Given the description of an element on the screen output the (x, y) to click on. 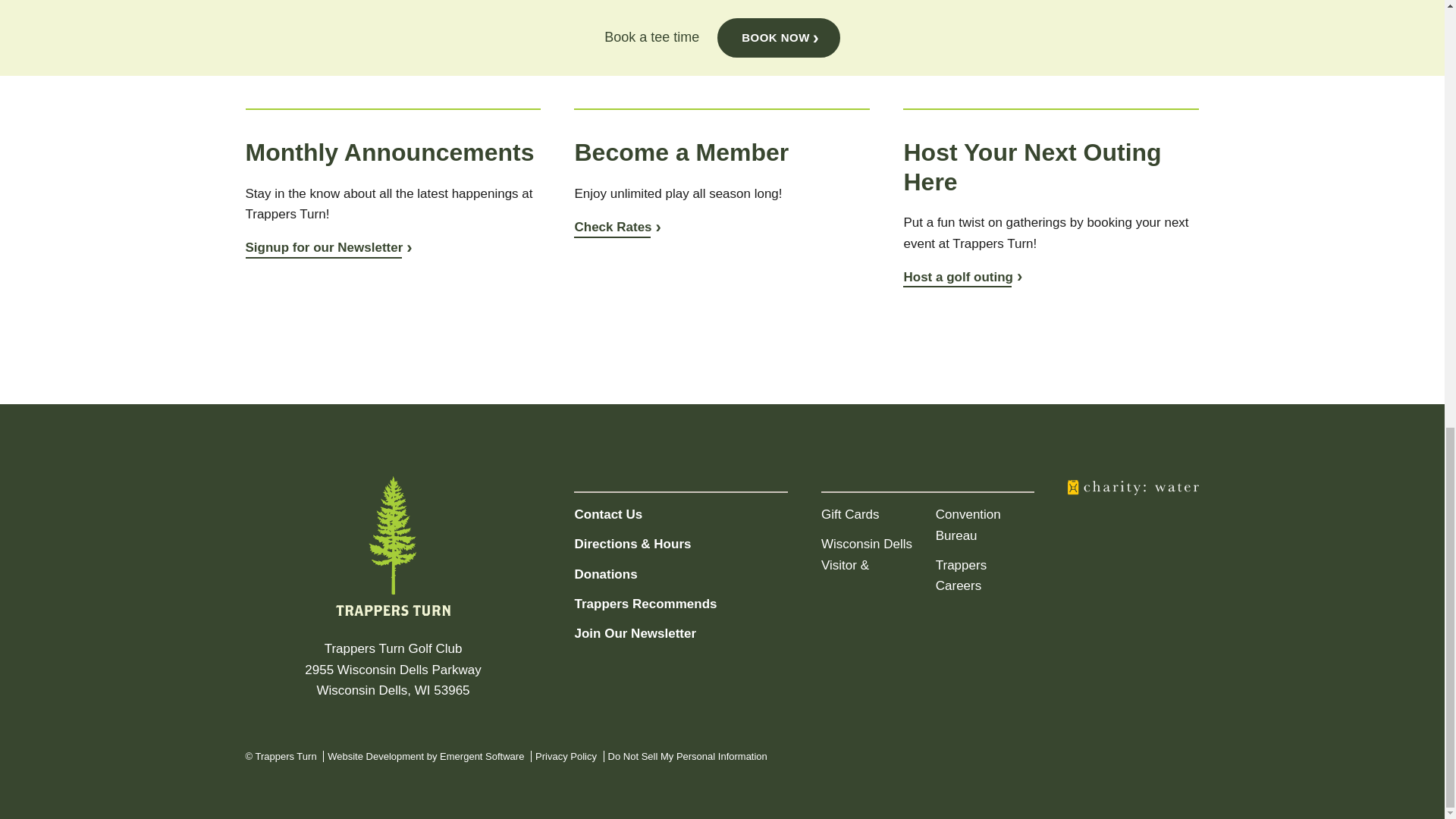
Golf Outings (962, 277)
Signup for our Newsletter (329, 247)
Become a Member (617, 227)
